Given the description of an element on the screen output the (x, y) to click on. 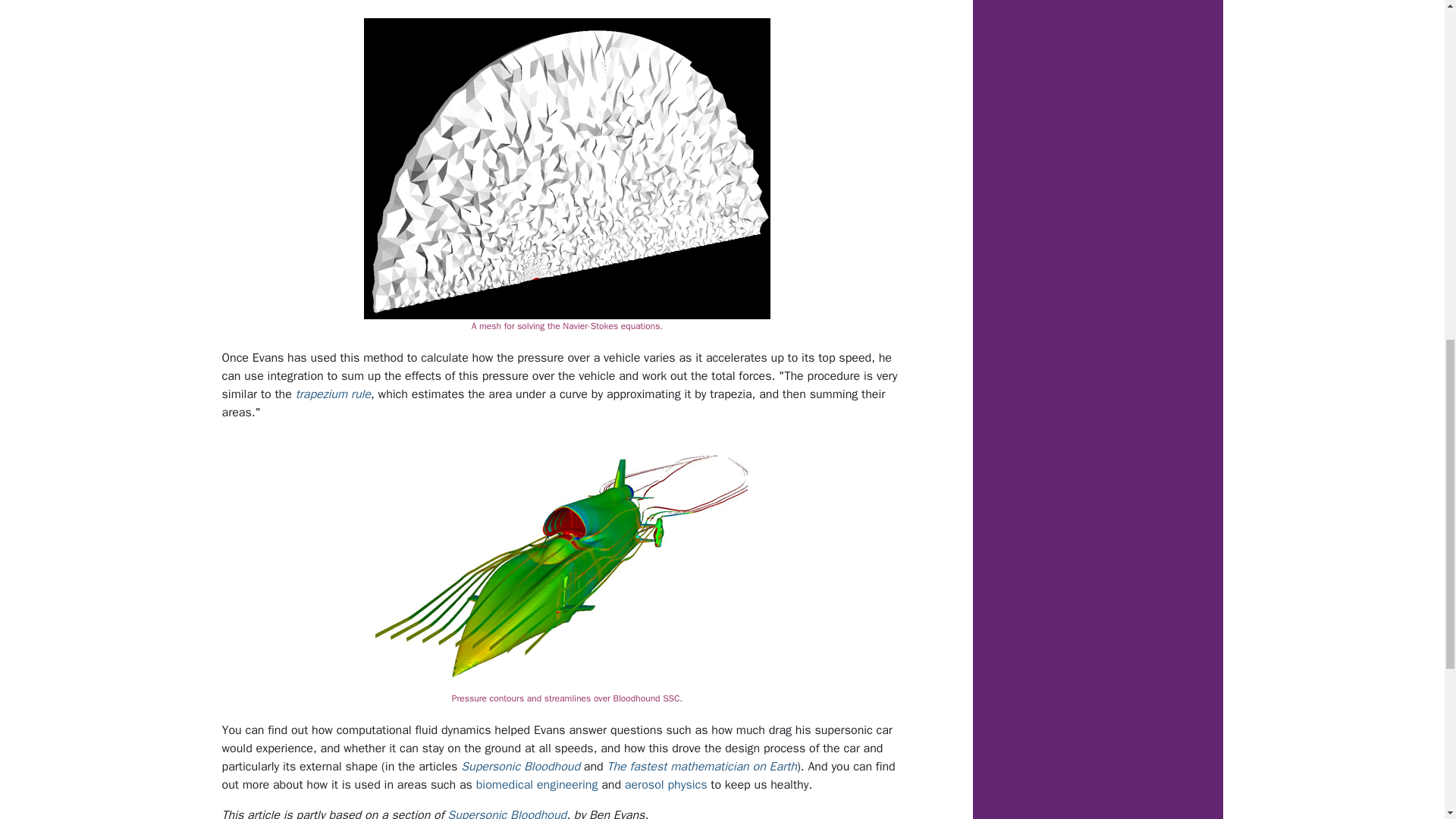
biomedical engineering (537, 784)
The fastest mathematician on Earth (701, 766)
aerosol physics (665, 784)
Supersonic Bloodhoud (520, 766)
Supersonic Bloodhoud (506, 813)
trapezium rule (333, 394)
